Given the description of an element on the screen output the (x, y) to click on. 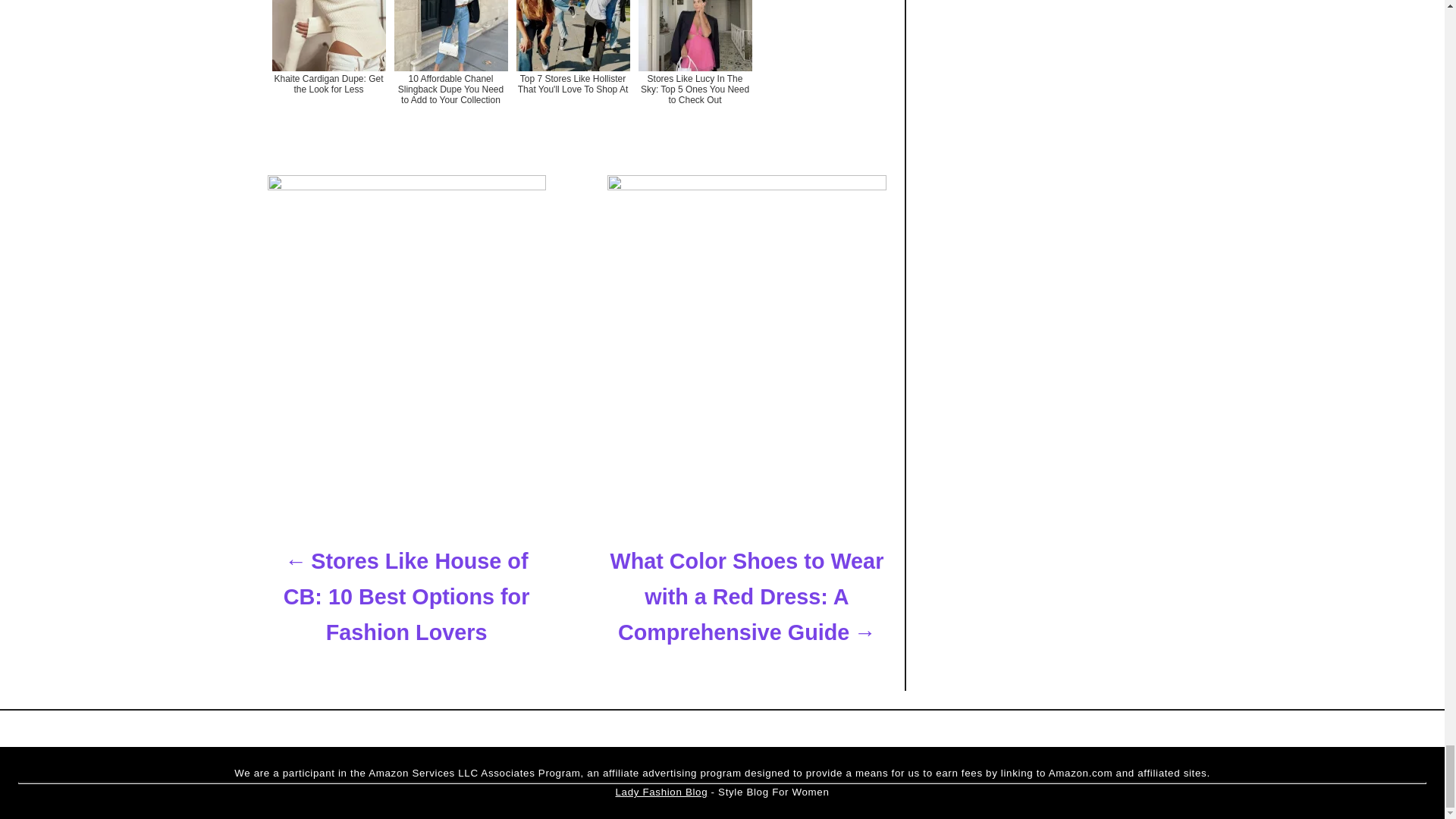
Stores Like House of CB: 10 Best Options for Fashion Lovers (405, 596)
Khaite Cardigan Dupe: Get the Look for Less (328, 66)
Top 7 Stores Like Hollister That You'll Love To Shop At (572, 66)
Lady Fashion Blog (660, 791)
